Given the description of an element on the screen output the (x, y) to click on. 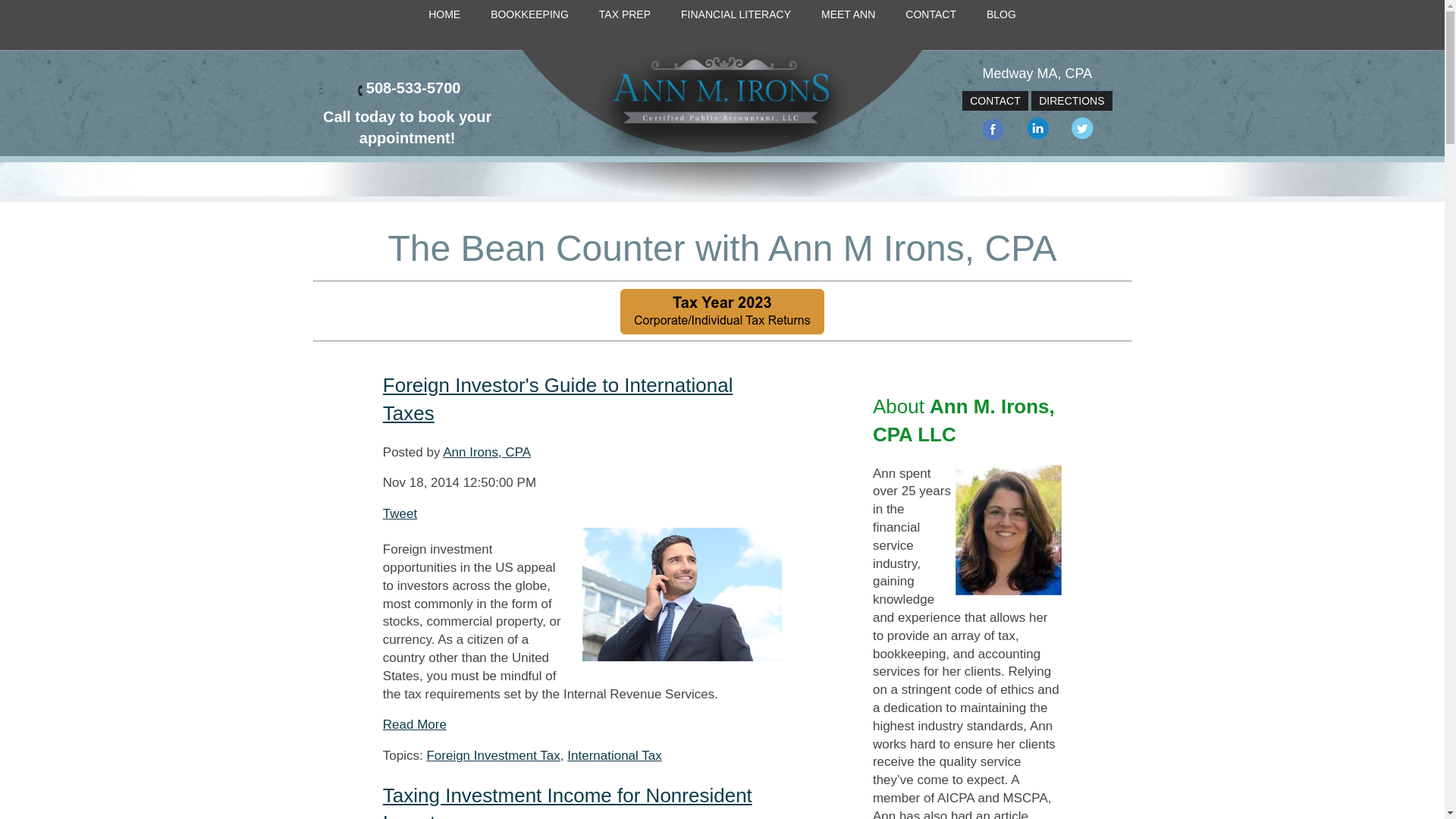
Taxing Investment Income for Nonresident Investors (567, 801)
BLOG (1000, 15)
Tweet (399, 513)
HOME (444, 15)
TAX PREP (624, 15)
CONTACT (994, 100)
Read More (414, 724)
Foreign Investment Tax (492, 755)
Ann Irons, CPA (486, 452)
FINANCIAL LITERACY (735, 15)
